Given the description of an element on the screen output the (x, y) to click on. 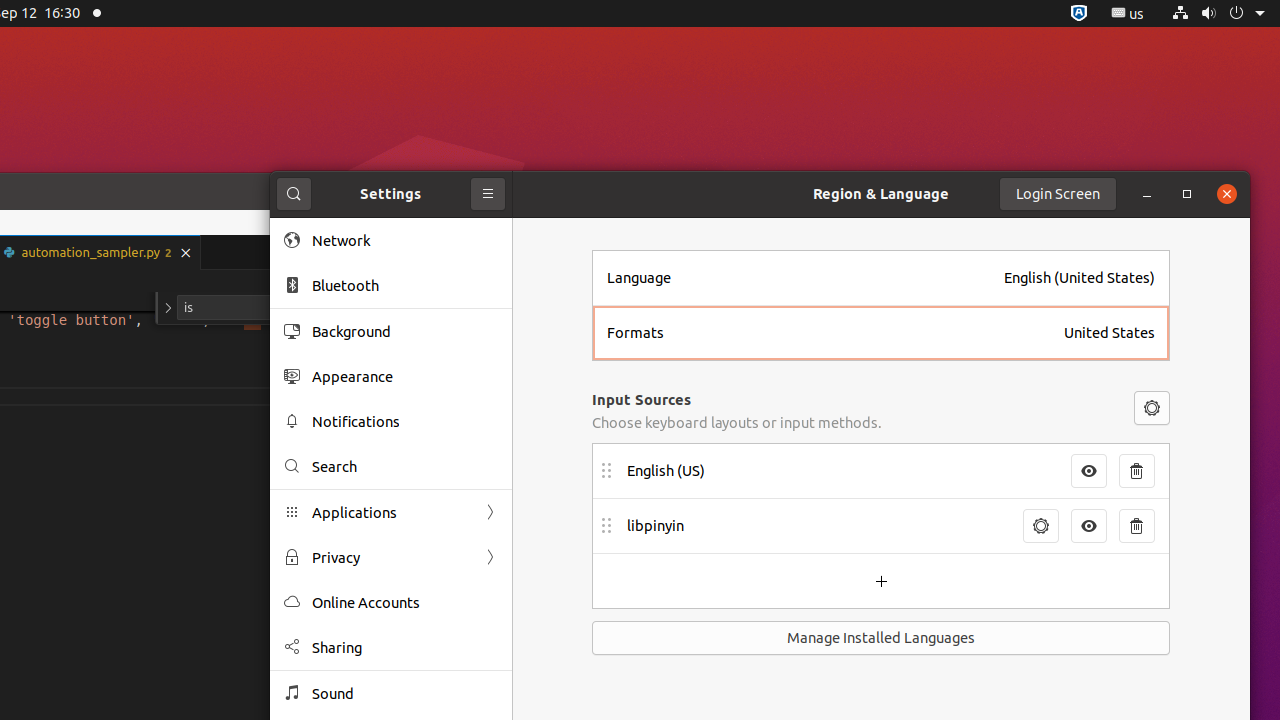
Choose keyboard layouts or input methods. Element type: label (737, 422)
English (United States) Element type: label (1079, 278)
